Given the description of an element on the screen output the (x, y) to click on. 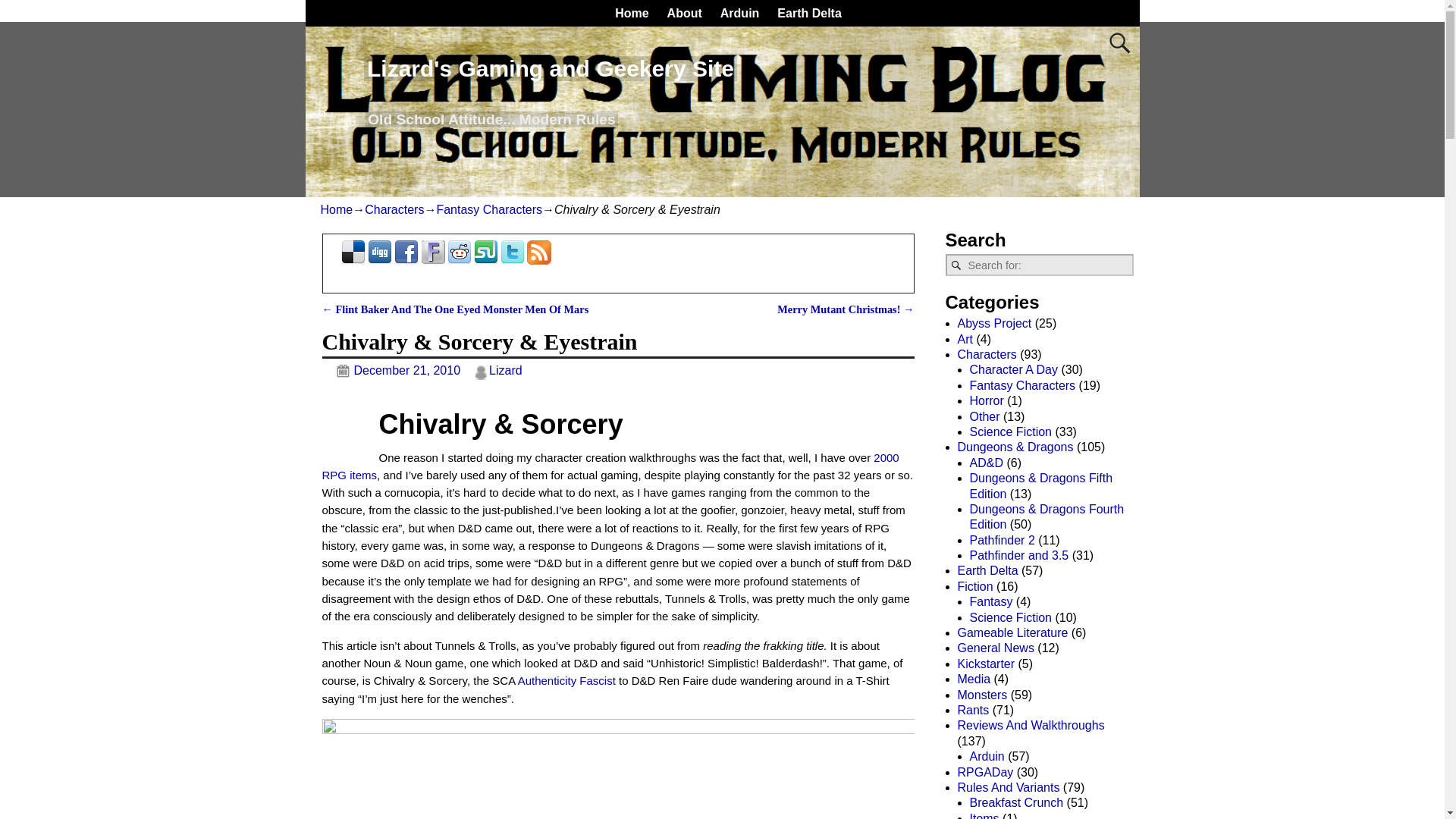
Home (336, 209)
Lizard's Gaming and Geekery Site (551, 68)
About (684, 13)
2000 RPG items (609, 465)
Fantasy Characters (488, 209)
Home (631, 13)
Earth Delta (809, 13)
Lizard (505, 369)
9:19 am (390, 369)
Lizard's Gaming and Geekery Site (551, 68)
Authenticity Fascist (568, 680)
Home (631, 13)
December 21, 2010 (390, 369)
Arduin (739, 13)
View all posts by Lizard (505, 369)
